Given the description of an element on the screen output the (x, y) to click on. 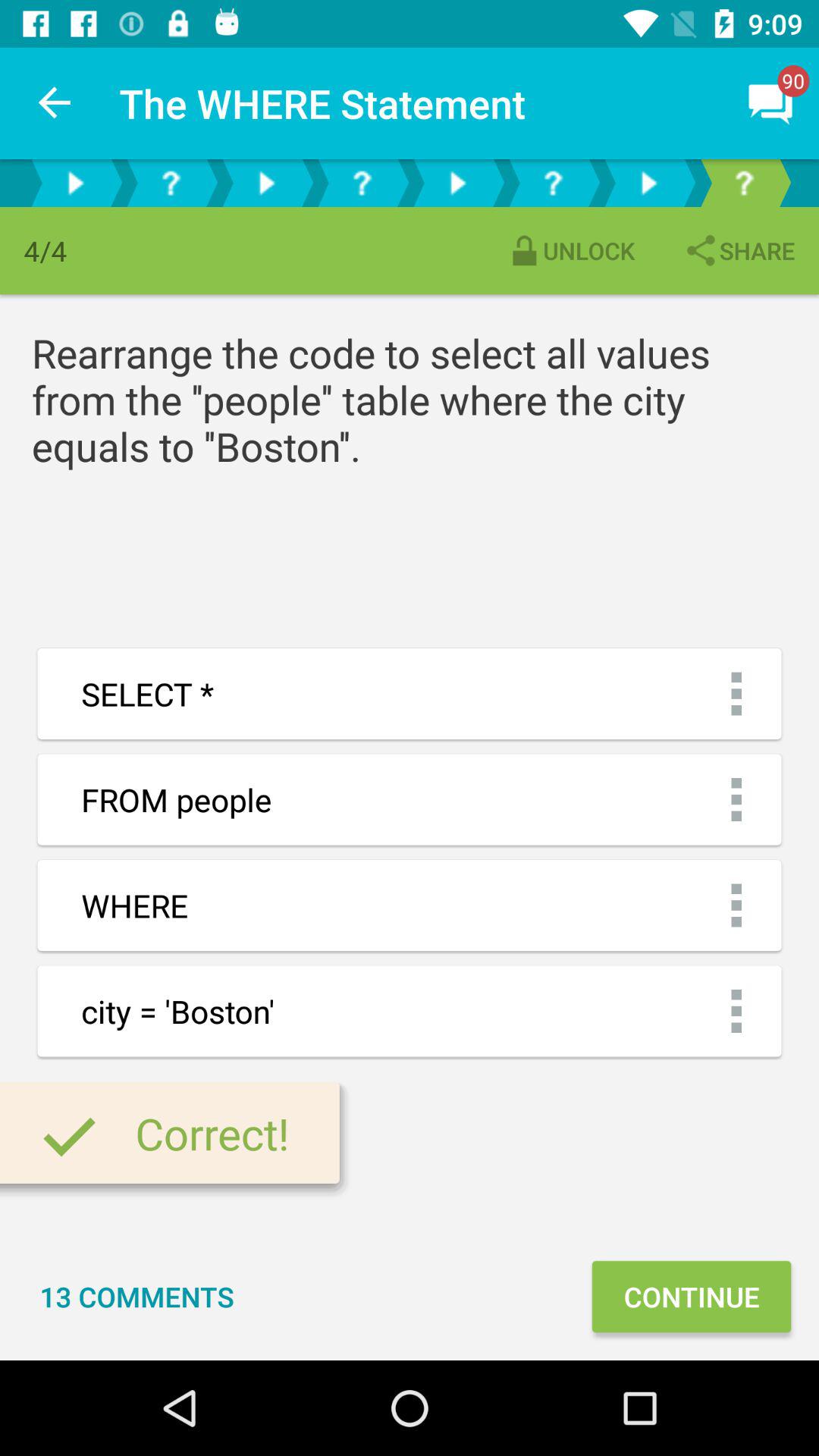
faq section (361, 183)
